Given the description of an element on the screen output the (x, y) to click on. 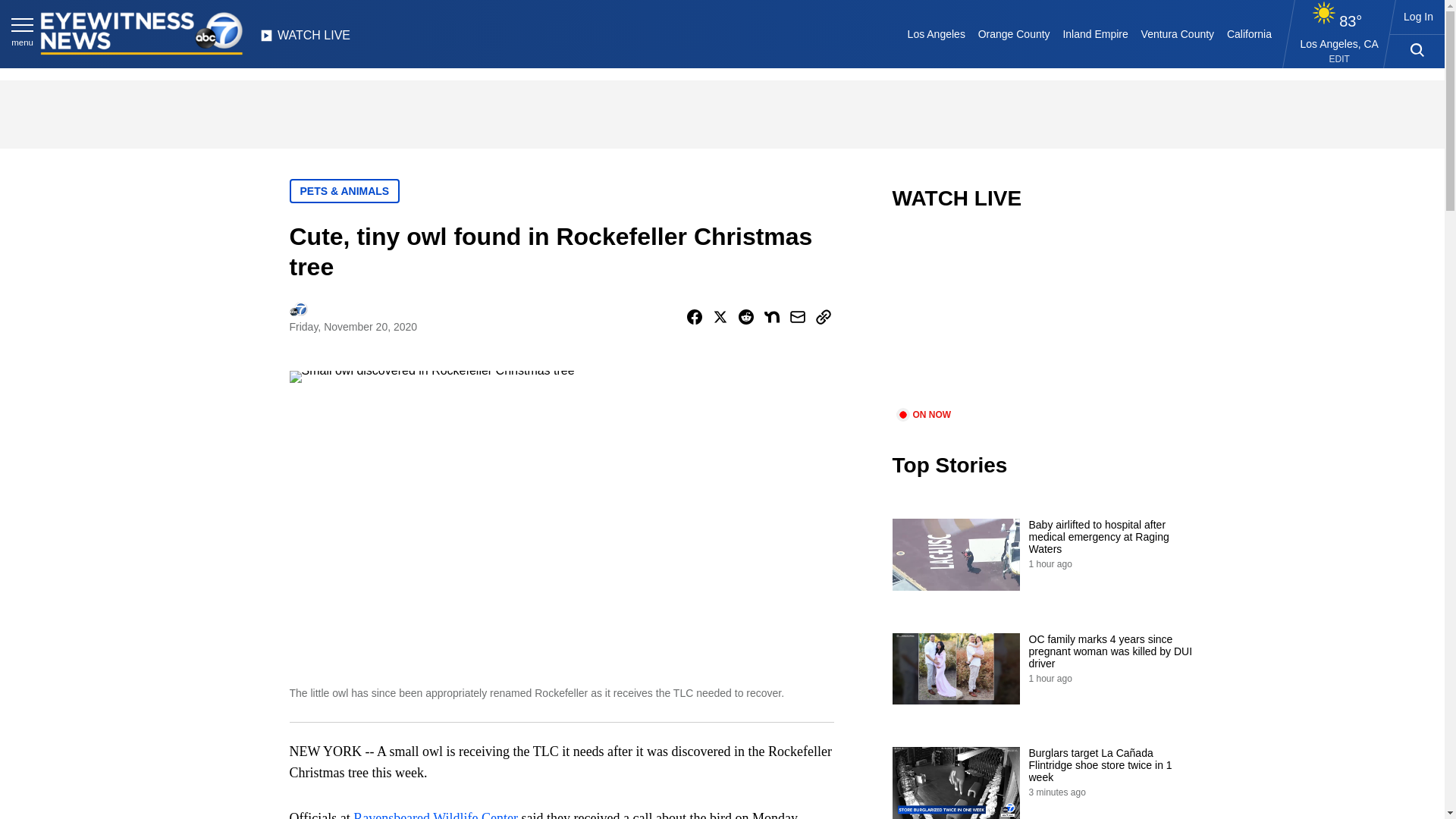
Los Angeles (936, 33)
Ventura County (1177, 33)
Los Angeles, CA (1339, 43)
Orange County (1014, 33)
WATCH LIVE (305, 39)
Inland Empire (1095, 33)
California (1249, 33)
video.title (1043, 318)
EDIT (1339, 59)
